Given the description of an element on the screen output the (x, y) to click on. 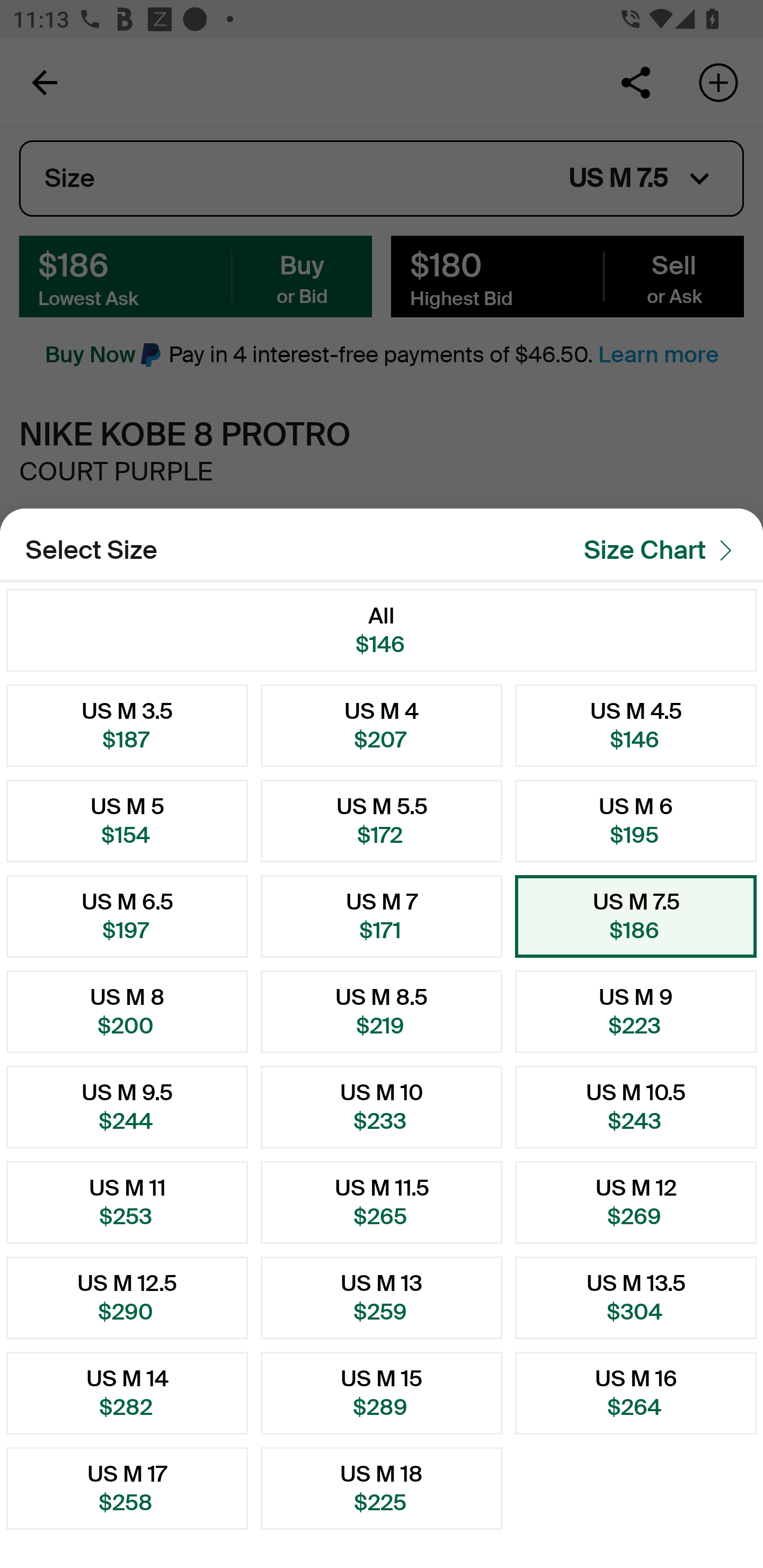
Size Chart (663, 550)
All $146 (381, 630)
US M 3.5 $187 (126, 724)
US M 4 $207 (381, 724)
US M 4.5 $146 (635, 724)
US M 5 $154 (126, 820)
US M 5.5 $172 (381, 820)
US M 6 $195 (635, 820)
US M 6.5 $197 (126, 916)
US M 7 $171 (381, 916)
US M 7.5 $186 (635, 916)
US M 8 $200 (126, 1011)
US M 8.5 $219 (381, 1011)
US M 9 $223 (635, 1011)
US M 9.5 $244 (126, 1106)
US M 10 $233 (381, 1106)
US M 10.5 $243 (635, 1106)
US M 11 $253 (126, 1202)
US M 11.5 $265 (381, 1202)
US M 12 $269 (635, 1202)
US M 12.5 $290 (126, 1297)
US M 13 $259 (381, 1297)
US M 13.5 $304 (635, 1297)
US M 14 $282 (126, 1392)
US M 15 $289 (381, 1392)
US M 16 $264 (635, 1392)
US M 17 $258 (126, 1488)
US M 18 $225 (381, 1488)
